Given the description of an element on the screen output the (x, y) to click on. 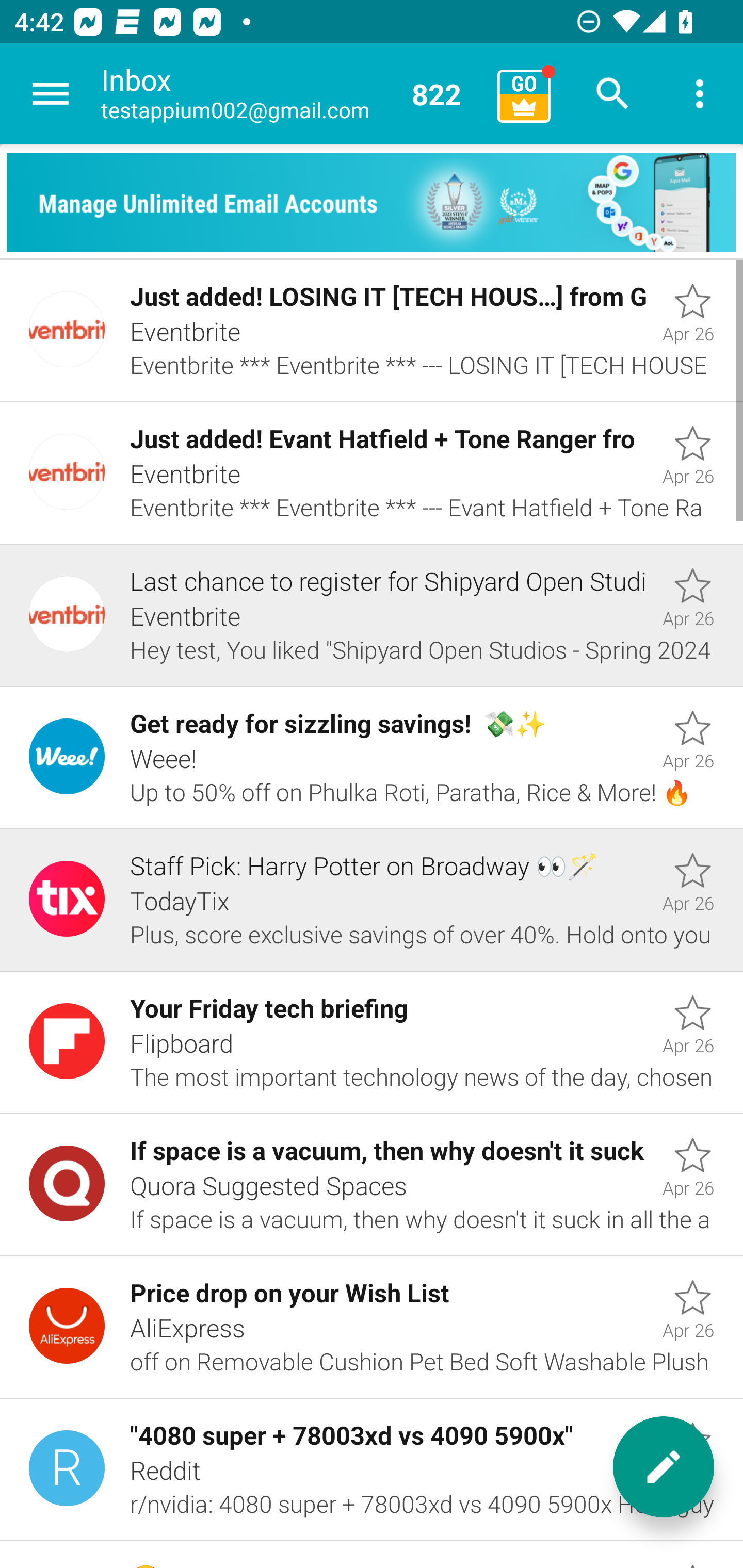
Navigate up (50, 93)
Inbox testappium002@gmail.com 822 (291, 93)
Search (612, 93)
More options (699, 93)
New message (663, 1466)
